Given the description of an element on the screen output the (x, y) to click on. 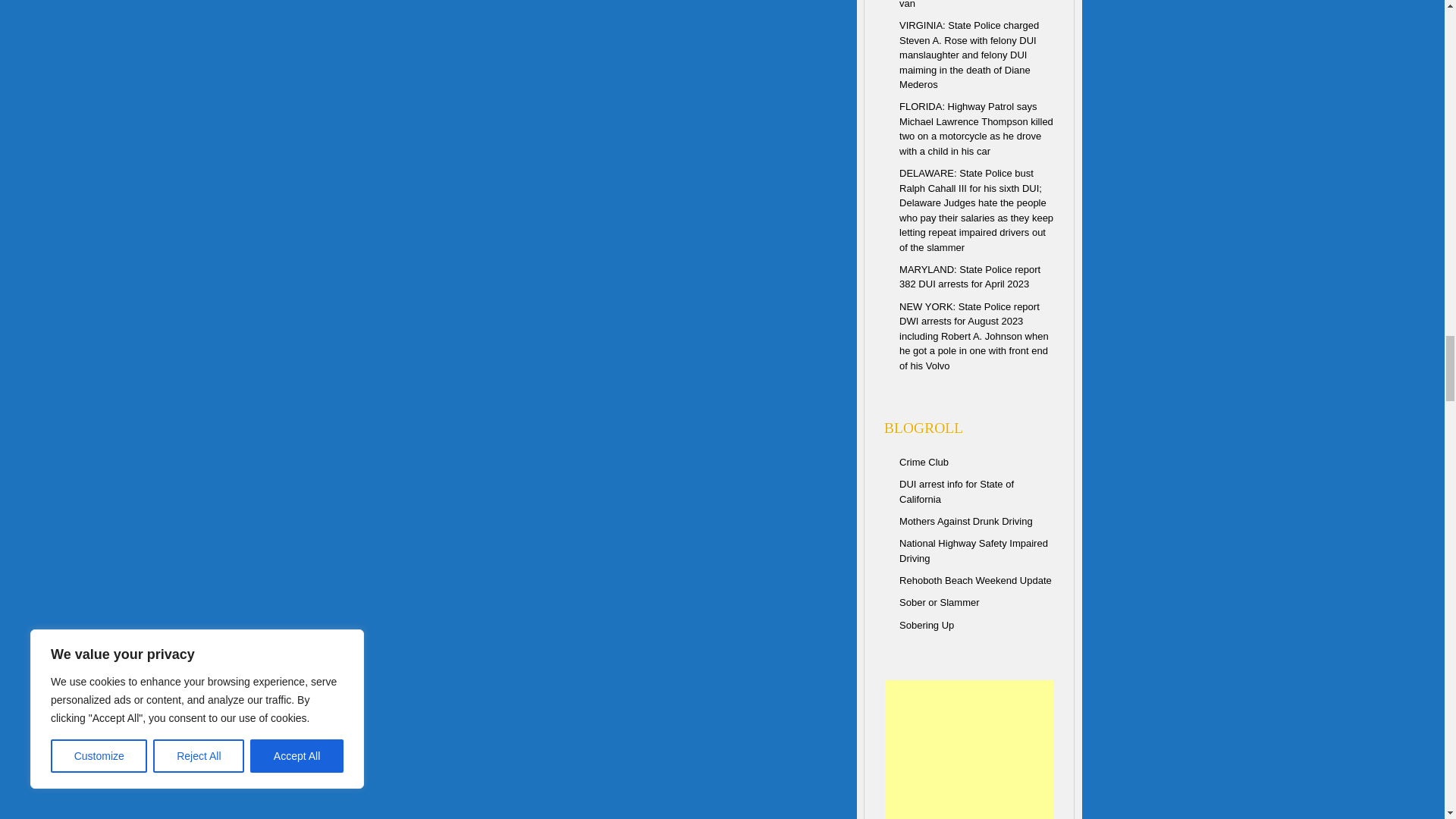
Over the limit and under arrest (973, 550)
Top ten questions if you have been busted for DUI (956, 491)
